Given the description of an element on the screen output the (x, y) to click on. 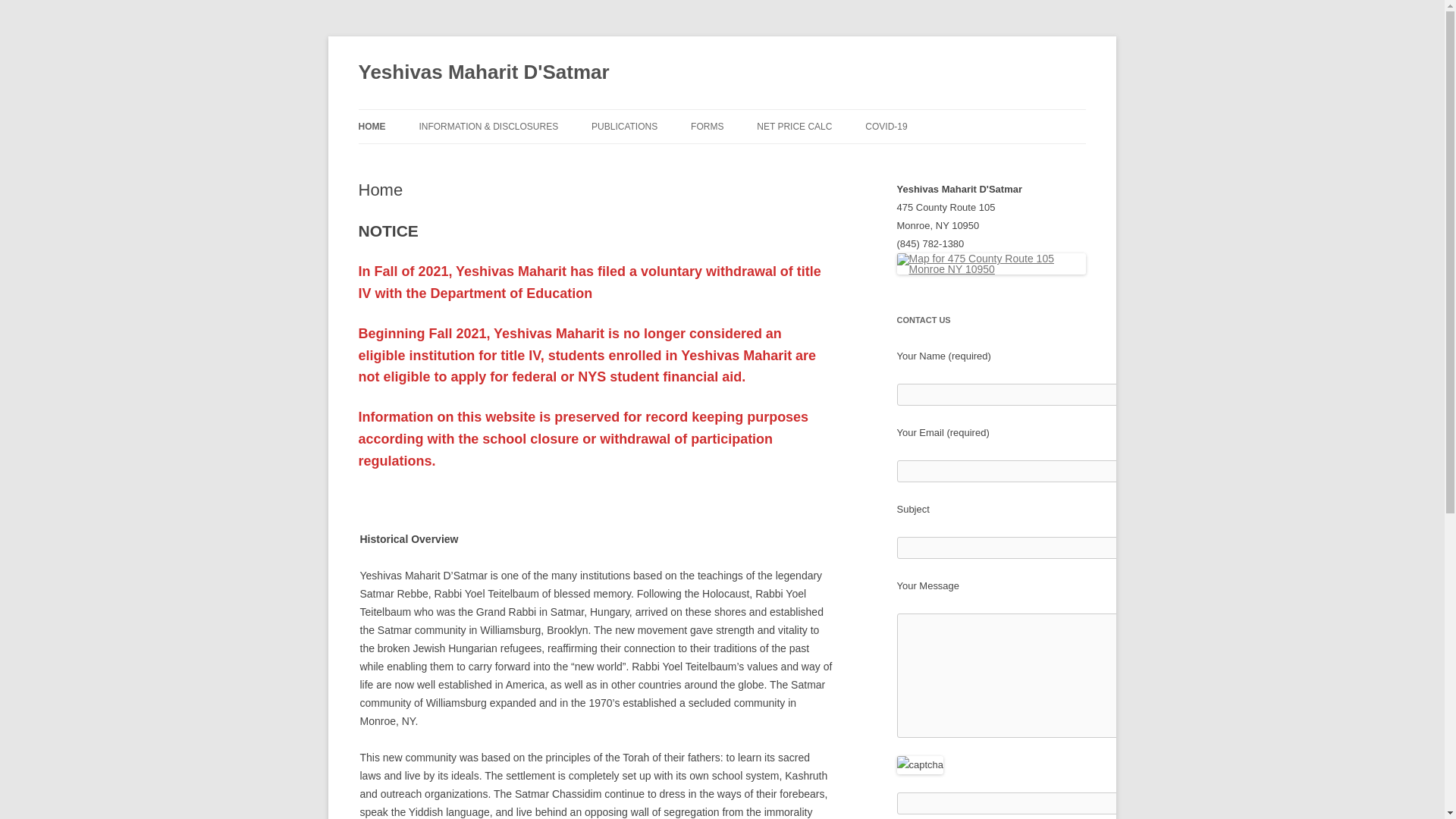
PUBLICATIONS (624, 126)
COVID-19 (885, 126)
NET PRICE CALC (794, 126)
FORMS (706, 126)
Yeshivas Maharit D'Satmar (483, 72)
